Given the description of an element on the screen output the (x, y) to click on. 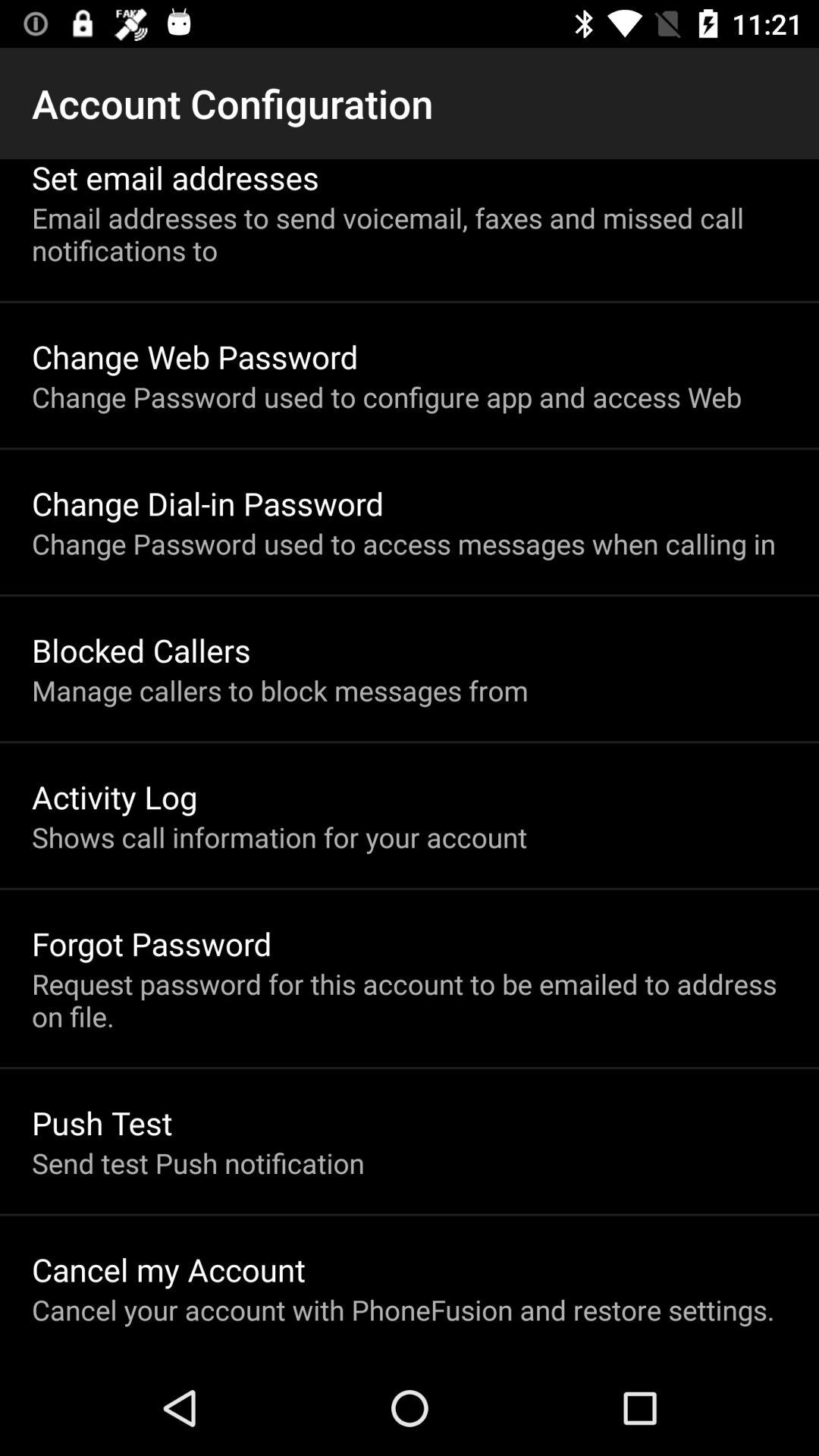
scroll until forgot password item (151, 943)
